Given the description of an element on the screen output the (x, y) to click on. 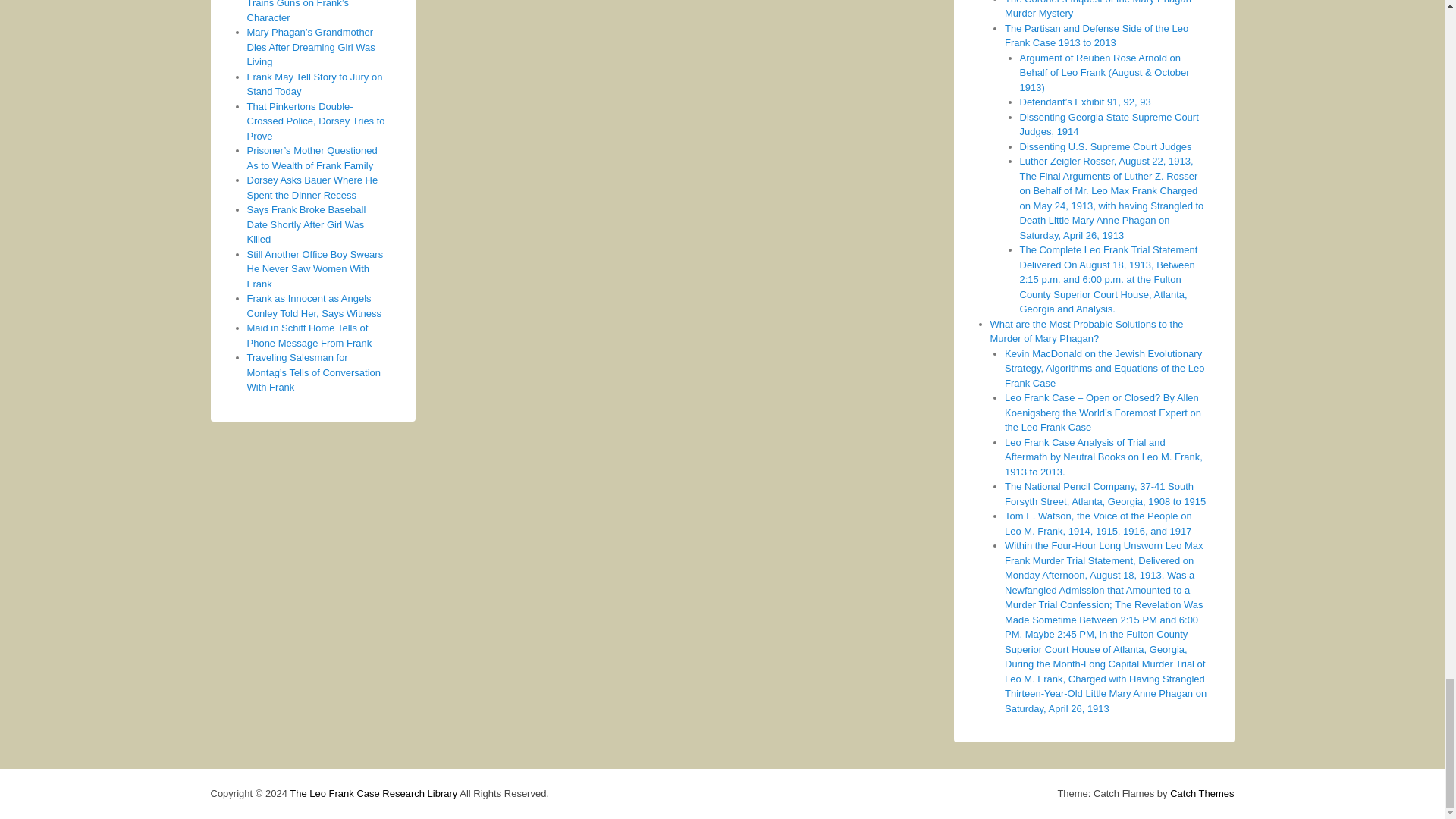
Catch Themes (1201, 793)
The Leo Frank Case Research Library (373, 793)
